Given the description of an element on the screen output the (x, y) to click on. 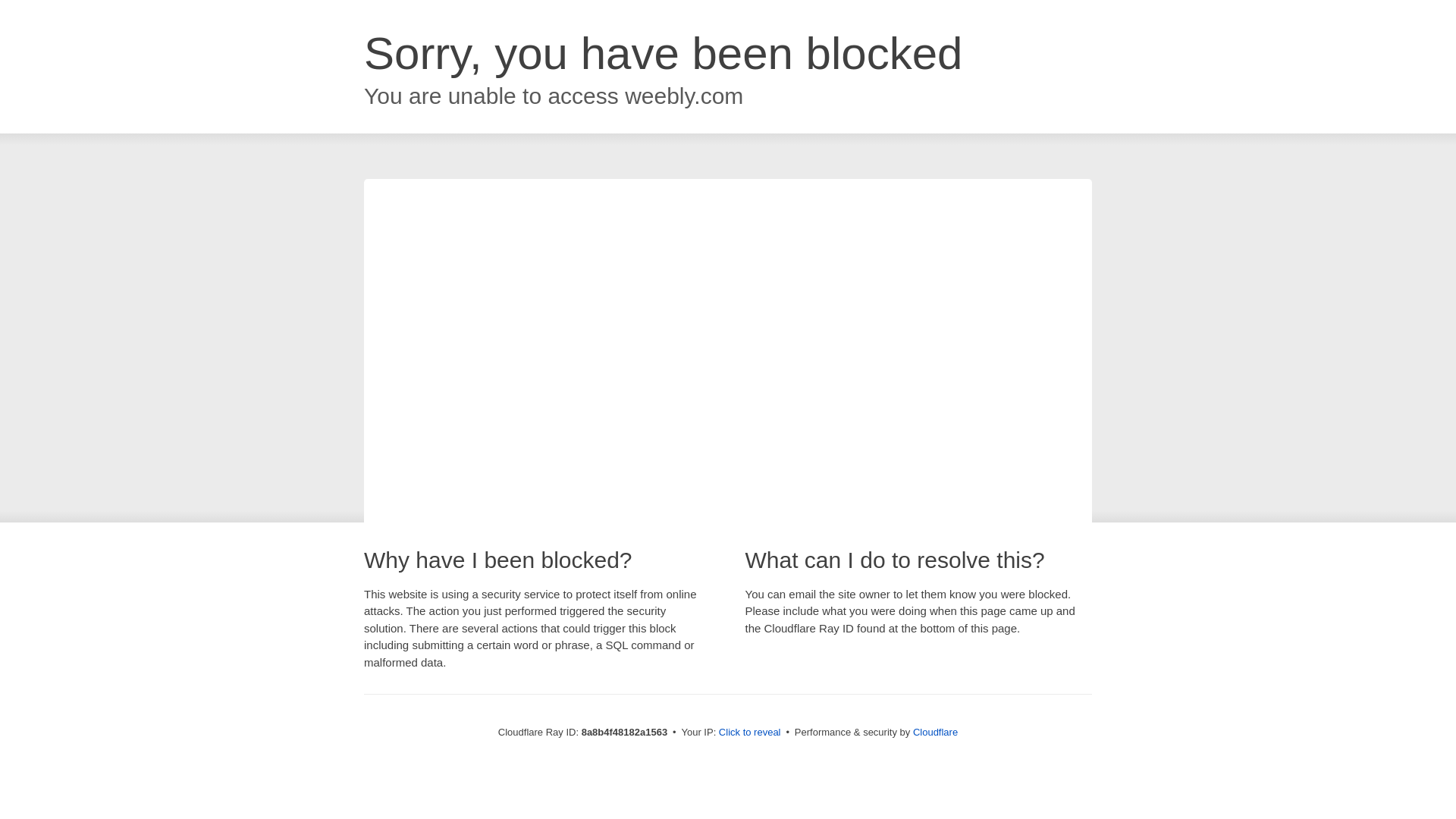
Cloudflare (935, 731)
Click to reveal (749, 732)
